Given the description of an element on the screen output the (x, y) to click on. 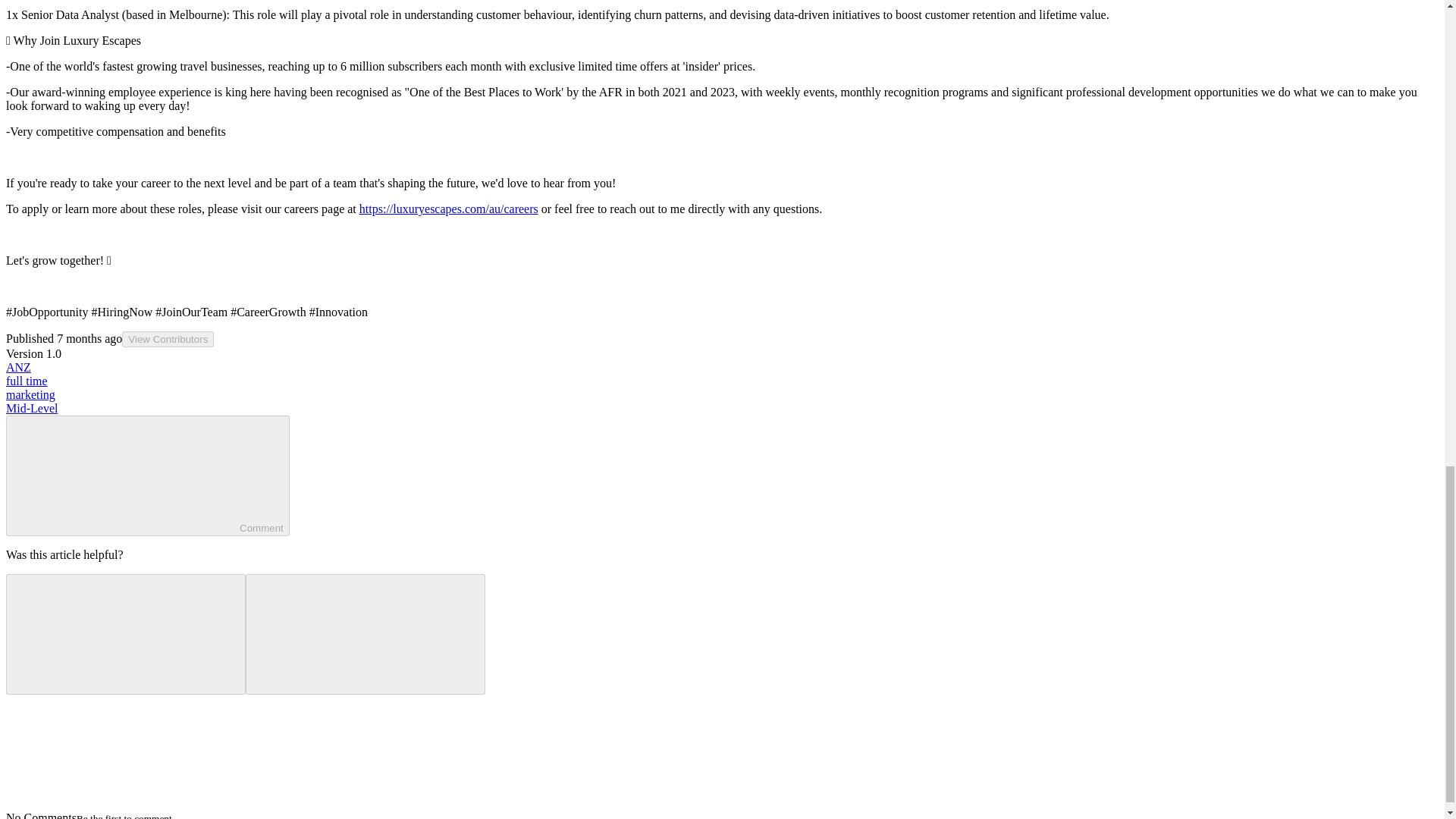
marketing (30, 394)
January 8, 2024 at 5:59 PM (89, 338)
Mid-Level (31, 408)
Comment (125, 474)
View Contributors (168, 339)
CommentComment (147, 475)
ANZ (17, 367)
full time (26, 380)
